Given the description of an element on the screen output the (x, y) to click on. 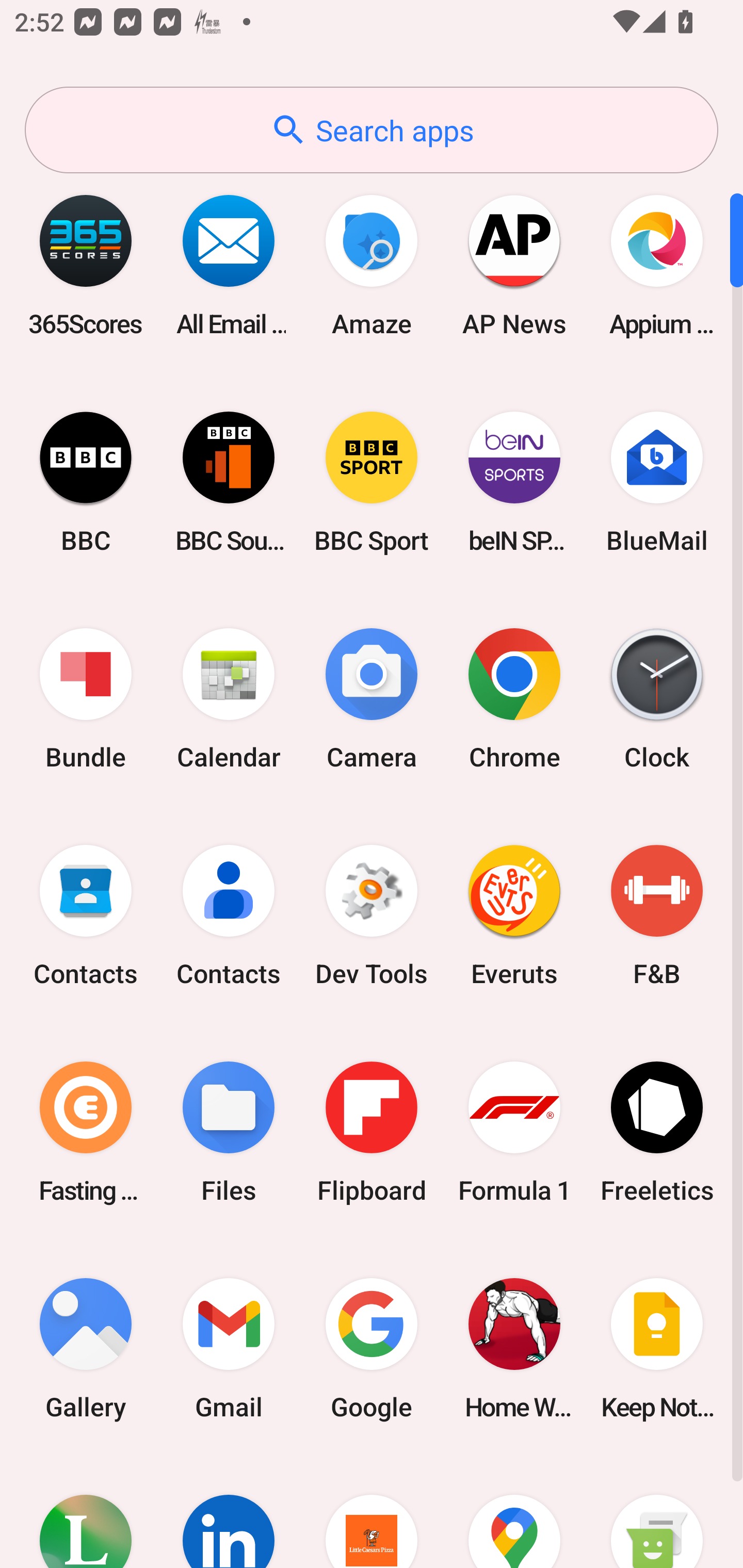
  Search apps (371, 130)
365Scores (85, 264)
All Email Connect (228, 264)
Amaze (371, 264)
AP News (514, 264)
Appium Settings (656, 264)
BBC (85, 482)
BBC Sounds (228, 482)
BBC Sport (371, 482)
beIN SPORTS (514, 482)
BlueMail (656, 482)
Bundle (85, 699)
Calendar (228, 699)
Camera (371, 699)
Chrome (514, 699)
Clock (656, 699)
Contacts (85, 915)
Contacts (228, 915)
Dev Tools (371, 915)
Everuts (514, 915)
F&B (656, 915)
Fasting Coach (85, 1131)
Files (228, 1131)
Flipboard (371, 1131)
Formula 1 (514, 1131)
Freeletics (656, 1131)
Gallery (85, 1348)
Gmail (228, 1348)
Google (371, 1348)
Home Workout (514, 1348)
Keep Notes (656, 1348)
